Given the description of an element on the screen output the (x, y) to click on. 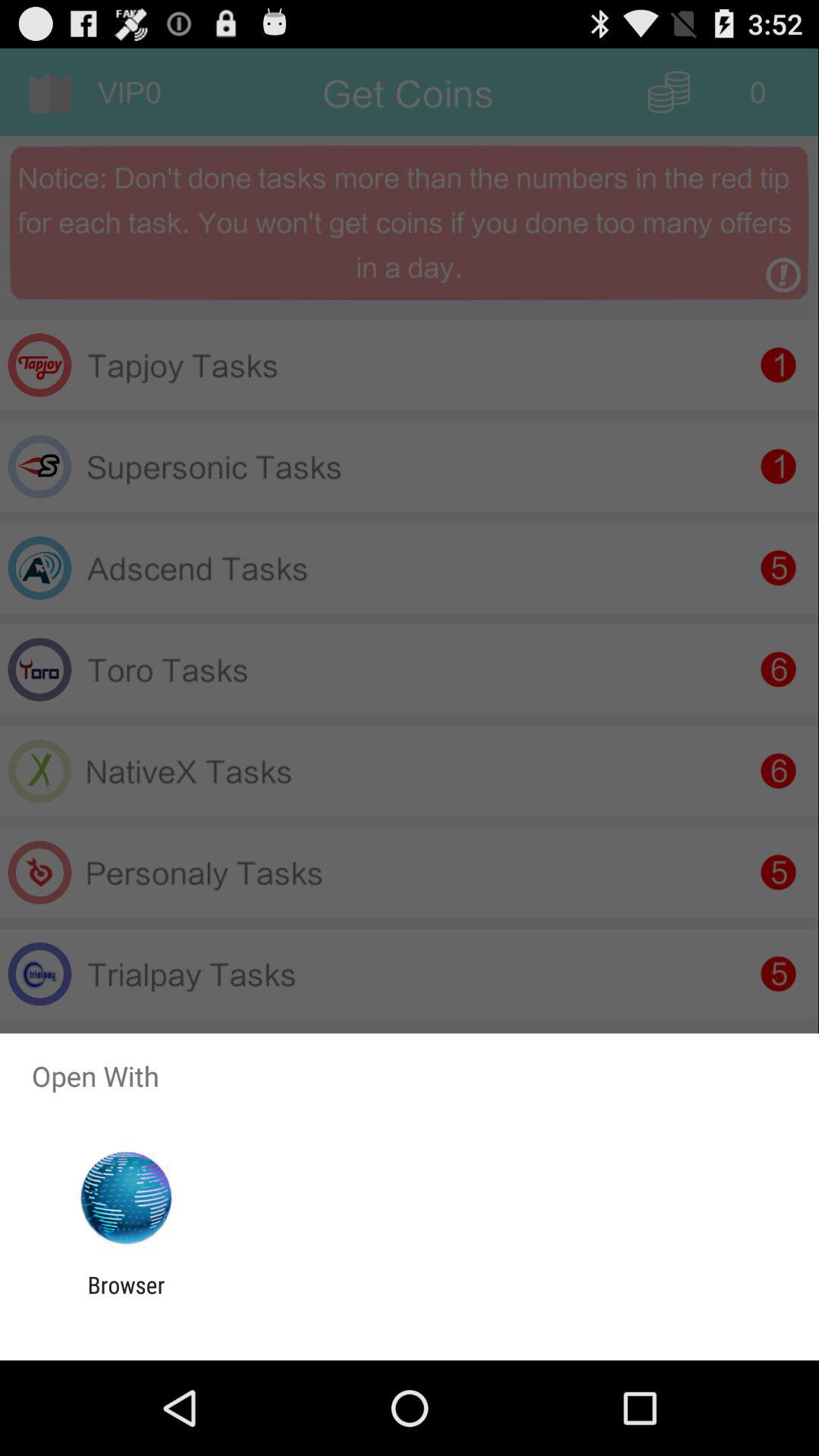
select browser item (125, 1298)
